Given the description of an element on the screen output the (x, y) to click on. 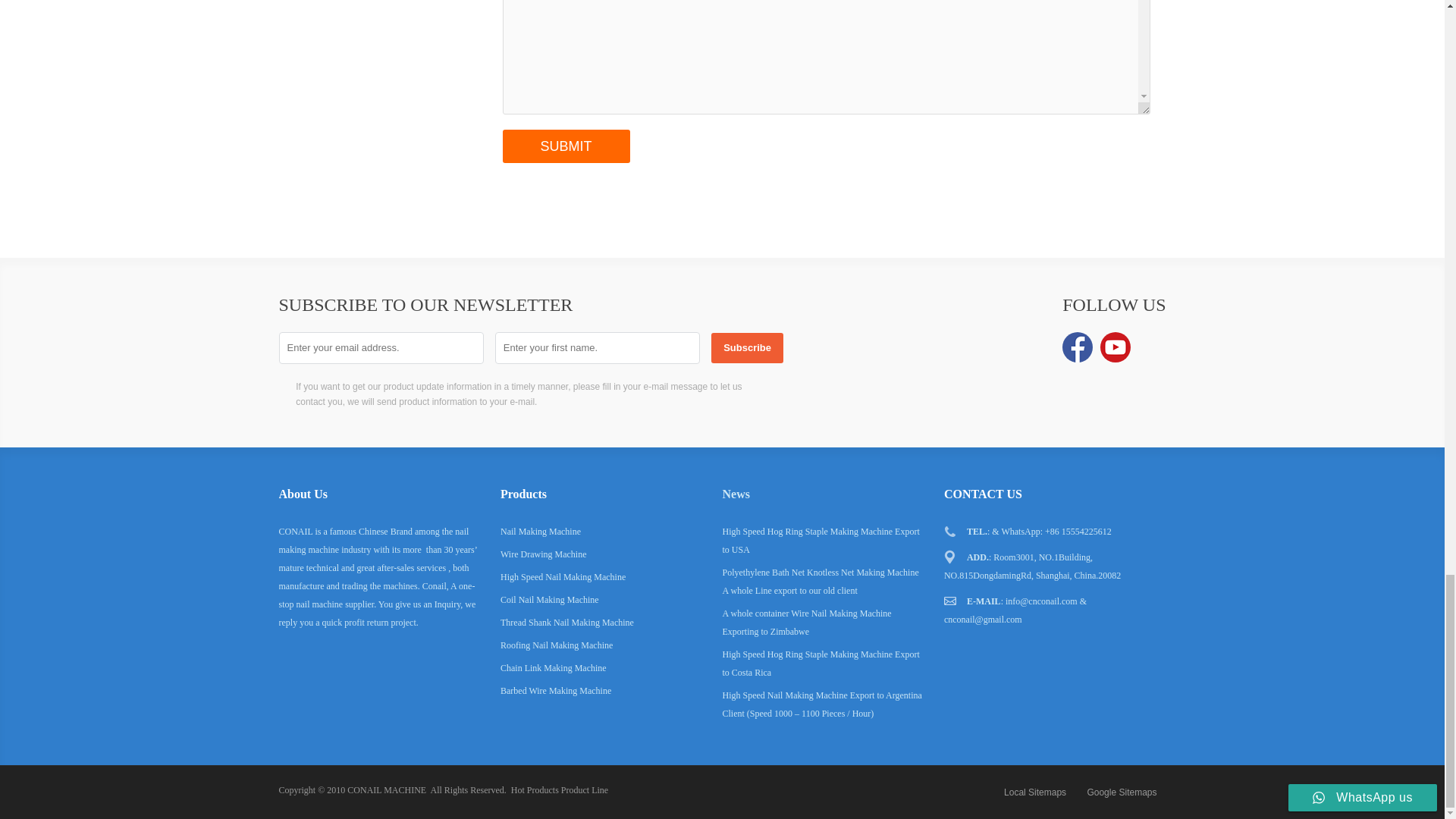
SUBMIT (565, 145)
Subscribe (747, 347)
Facebook (1077, 347)
Post Comment (565, 145)
High Speed Hog Ring Staple Making Machine Export to USA (820, 540)
News (735, 493)
YouTube (1115, 347)
